Given the description of an element on the screen output the (x, y) to click on. 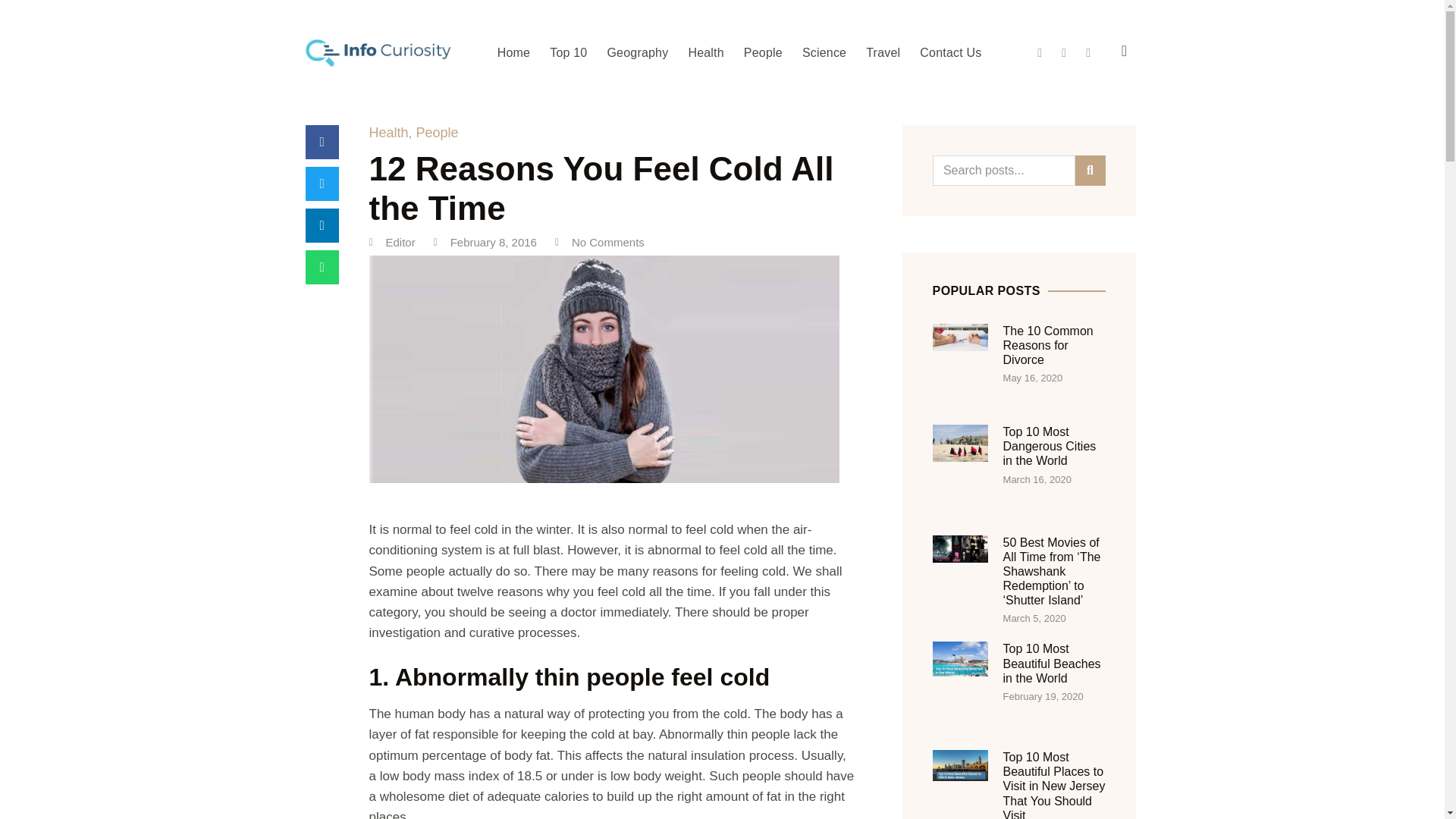
Editor (391, 242)
No Comments (599, 242)
People (437, 132)
Top 10 Most Dangerous Cities in the World (1049, 445)
Geography (636, 52)
February 8, 2016 (485, 242)
Travel (882, 52)
The 10 Common Reasons for Divorce (1048, 345)
People (763, 52)
Top 10 (567, 52)
Contact Us (950, 52)
Health (387, 132)
Science (823, 52)
Health (705, 52)
Home (513, 52)
